Given the description of an element on the screen output the (x, y) to click on. 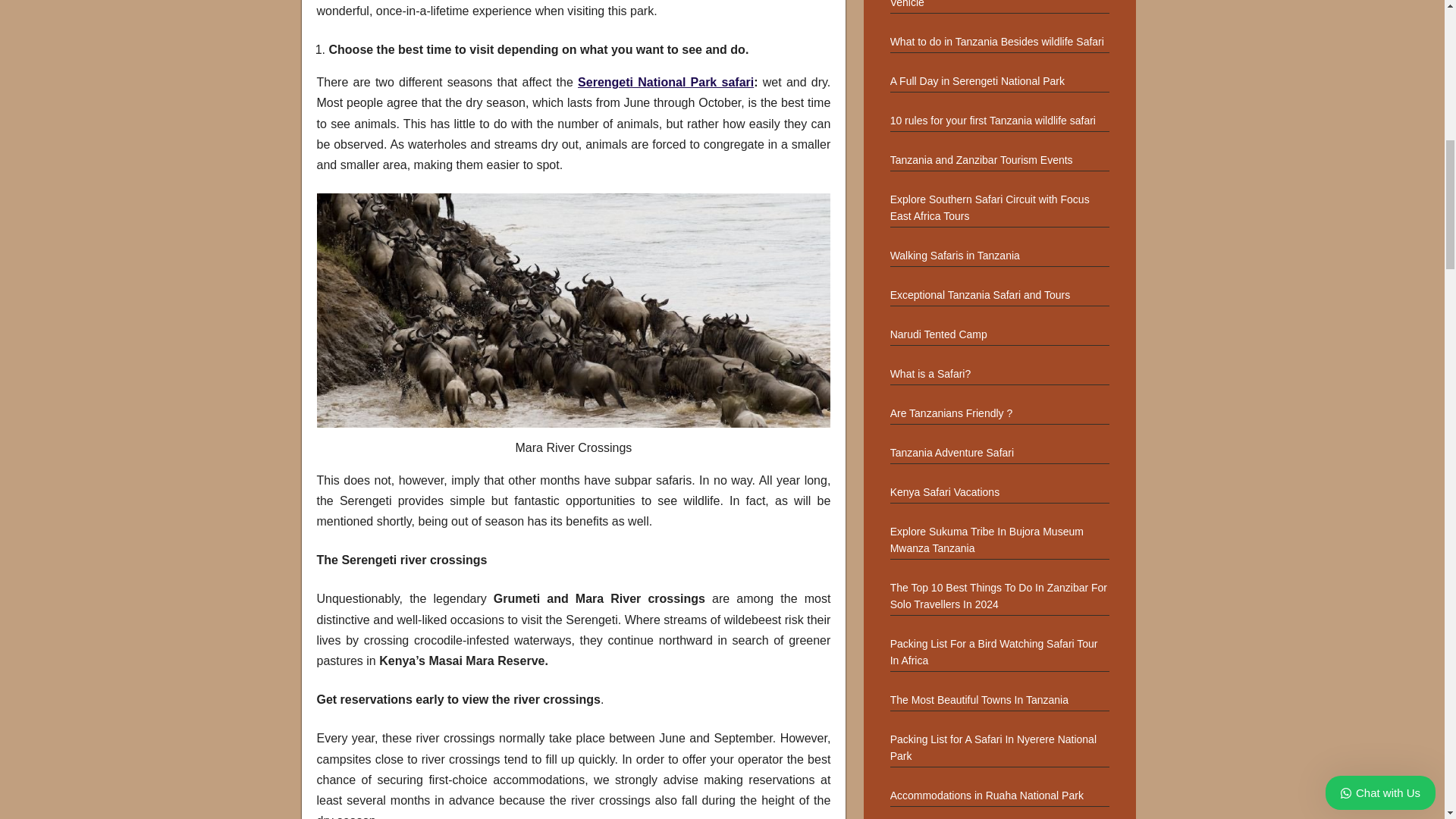
Serengeti National Park safari (666, 82)
